Given the description of an element on the screen output the (x, y) to click on. 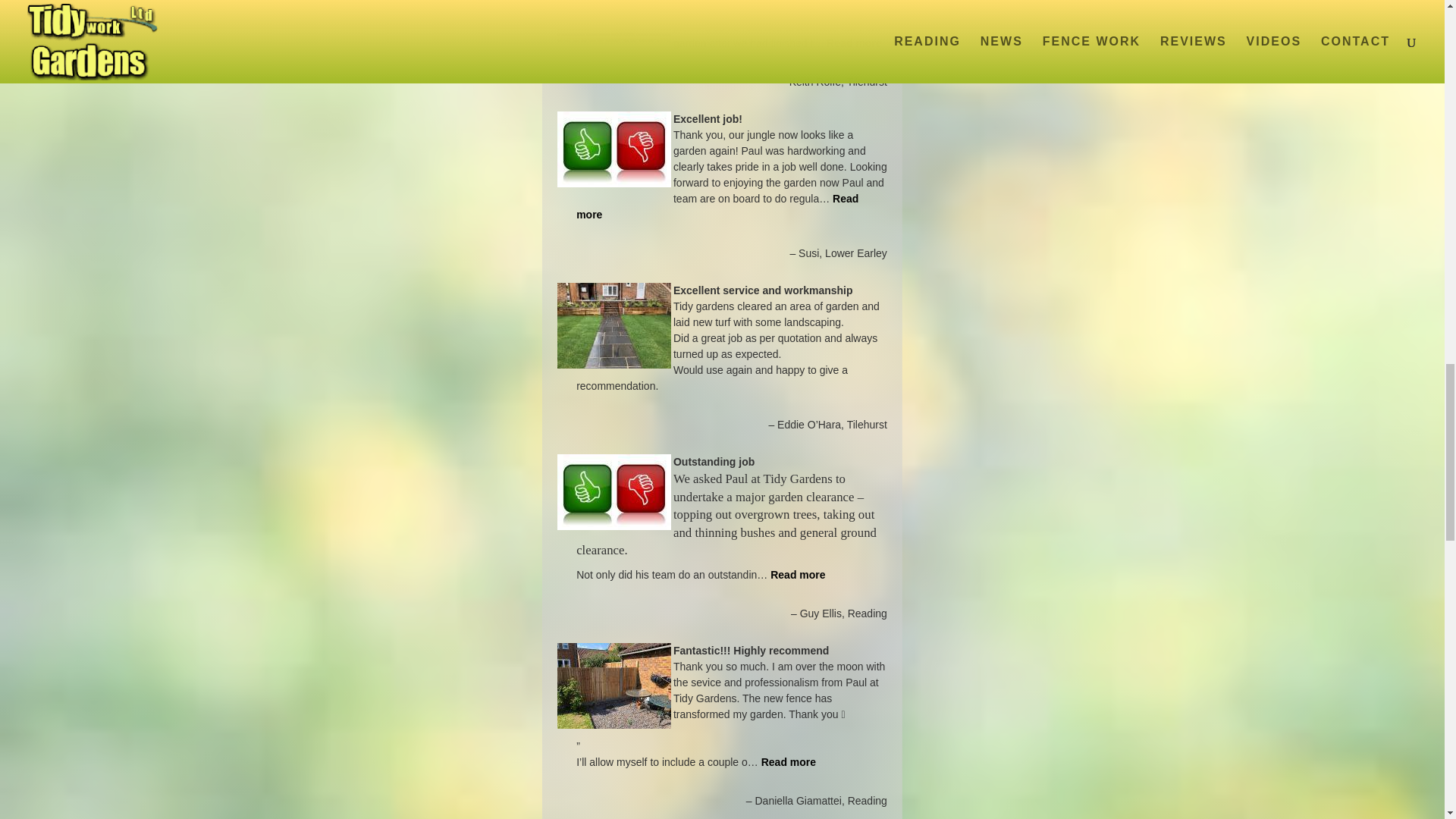
Read more (853, 42)
Read more (797, 574)
Read more (717, 206)
Complete testimonial by Keith Rolfe (853, 42)
Read more (788, 761)
